Given the description of an element on the screen output the (x, y) to click on. 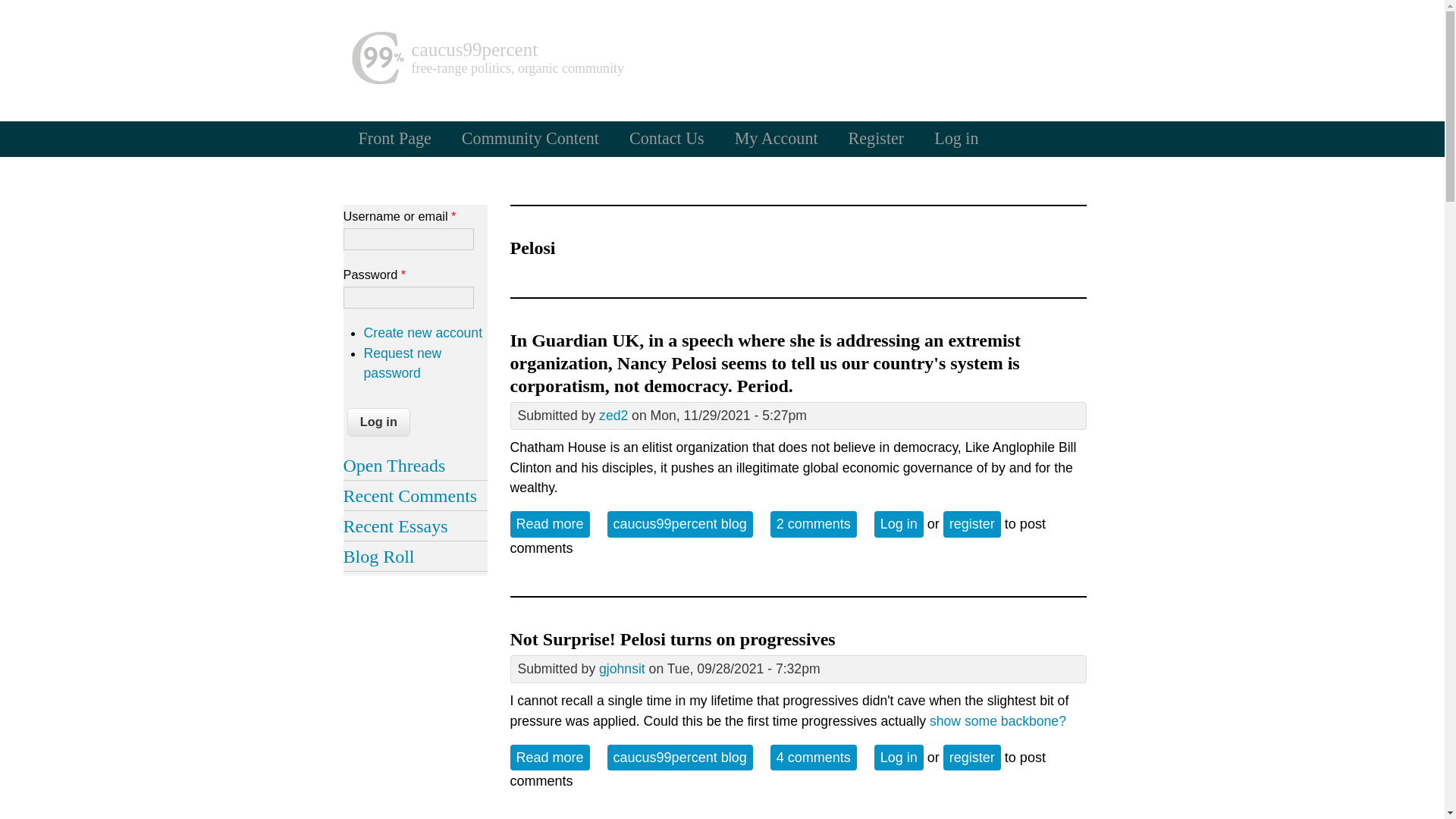
Read the latest caucus99percent blog entries. (679, 757)
Community Content (530, 138)
Front Page Featured Editorials (393, 138)
caucus99percent blog (679, 524)
Log in (899, 757)
View user profile. (612, 415)
register (972, 757)
Front Page (549, 757)
My personal user account (393, 138)
Read the latest caucus99percent blog entries. (775, 138)
Home (679, 524)
caucus99percent blog (376, 79)
2 comments (679, 757)
Not Surprise! Pelosi turns on progressives (813, 524)
